Given the description of an element on the screen output the (x, y) to click on. 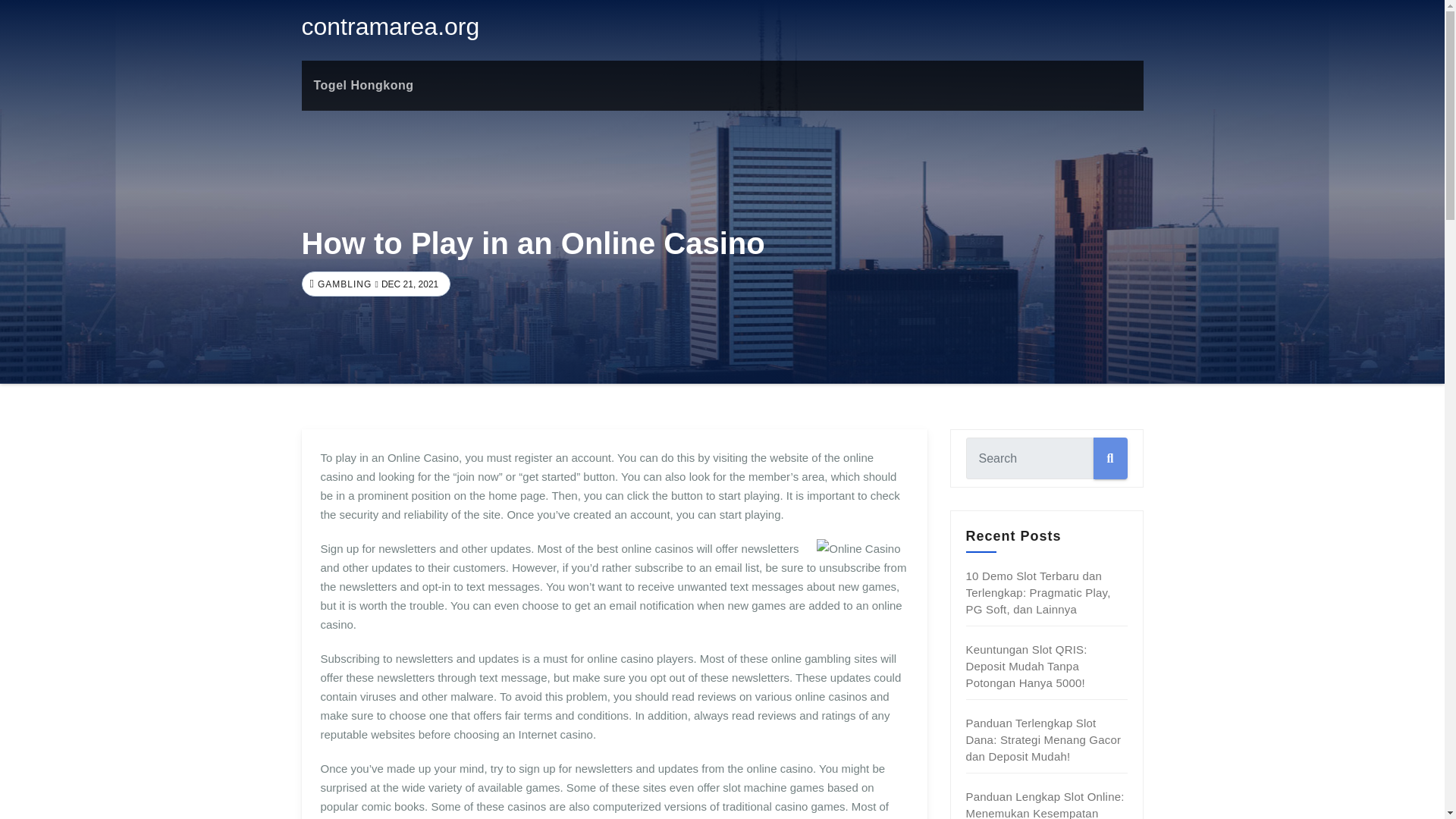
Togel Hongkong (363, 85)
Togel Hongkong (363, 85)
GAMBLING (342, 284)
contramarea.org (390, 26)
